Given the description of an element on the screen output the (x, y) to click on. 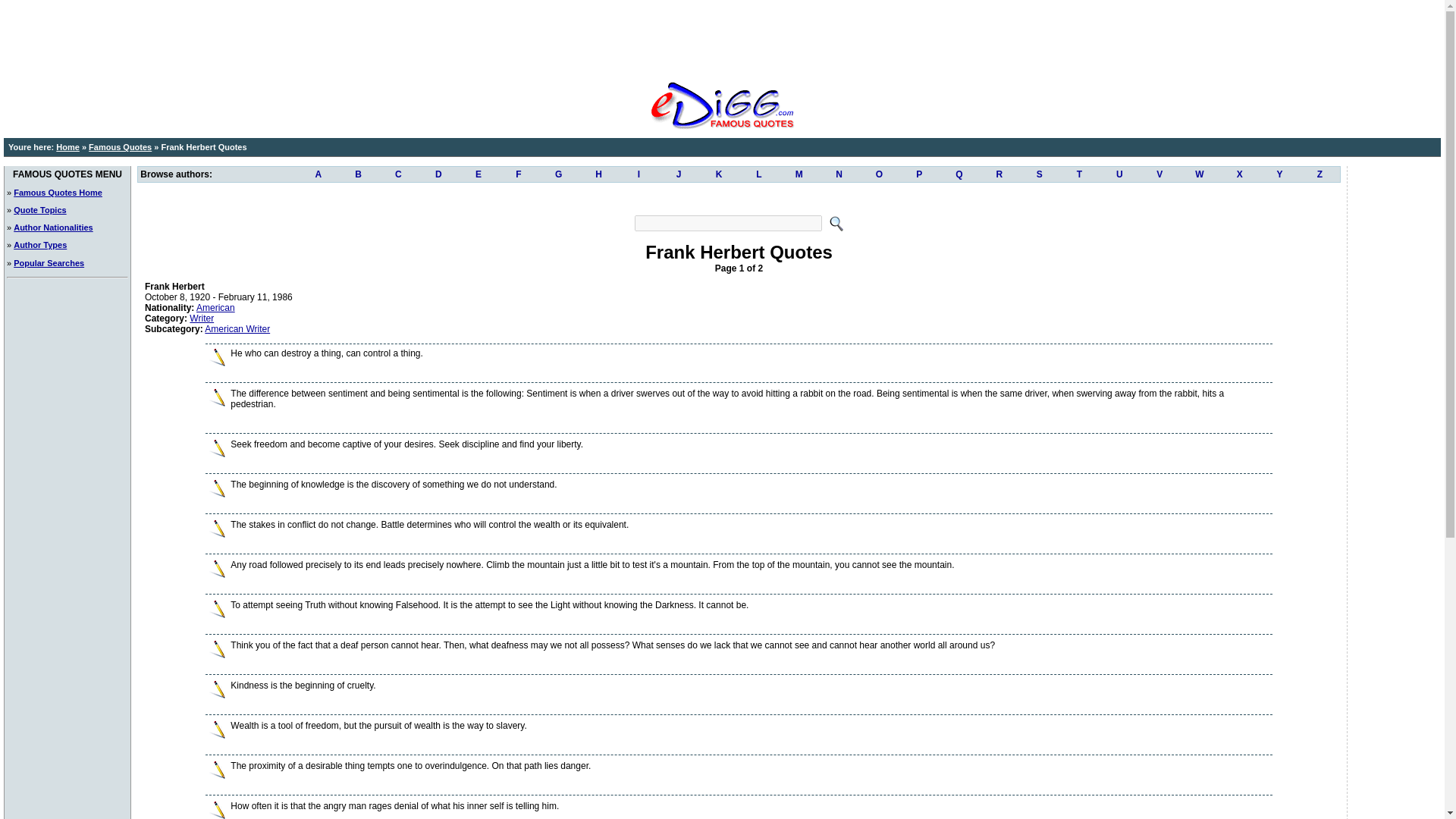
U (1119, 174)
D (438, 174)
O (879, 174)
P (919, 174)
F (517, 174)
Home (68, 146)
Author Nationalities (53, 226)
E (478, 174)
Author Types (39, 244)
Writer (201, 317)
L (758, 174)
J (678, 174)
Advertisement (721, 38)
Q (959, 174)
X (1239, 174)
